Given the description of an element on the screen output the (x, y) to click on. 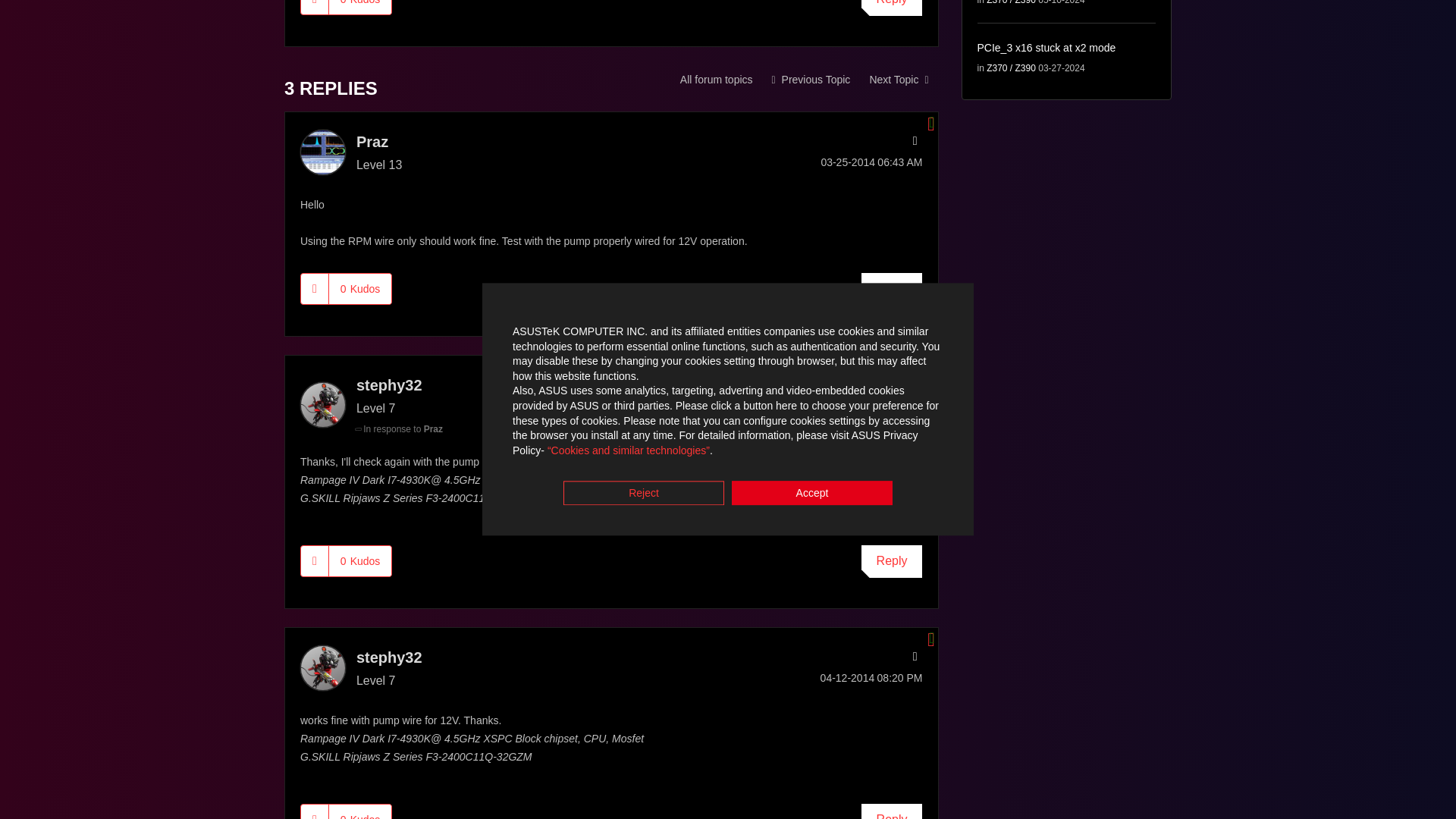
Click here to give kudos to this post. (315, 7)
The total number of kudos this post has received. (360, 7)
